Given the description of an element on the screen output the (x, y) to click on. 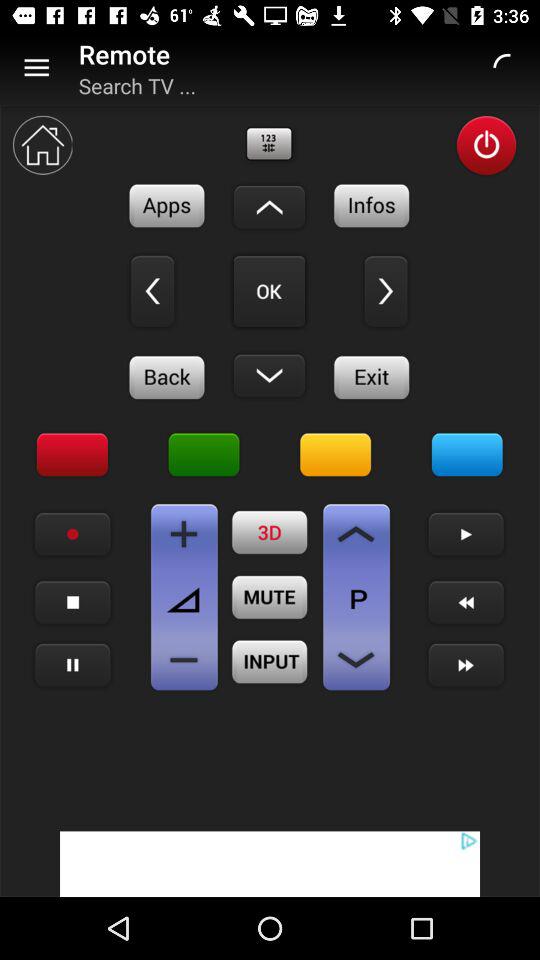
go back in video (466, 602)
